Given the description of an element on the screen output the (x, y) to click on. 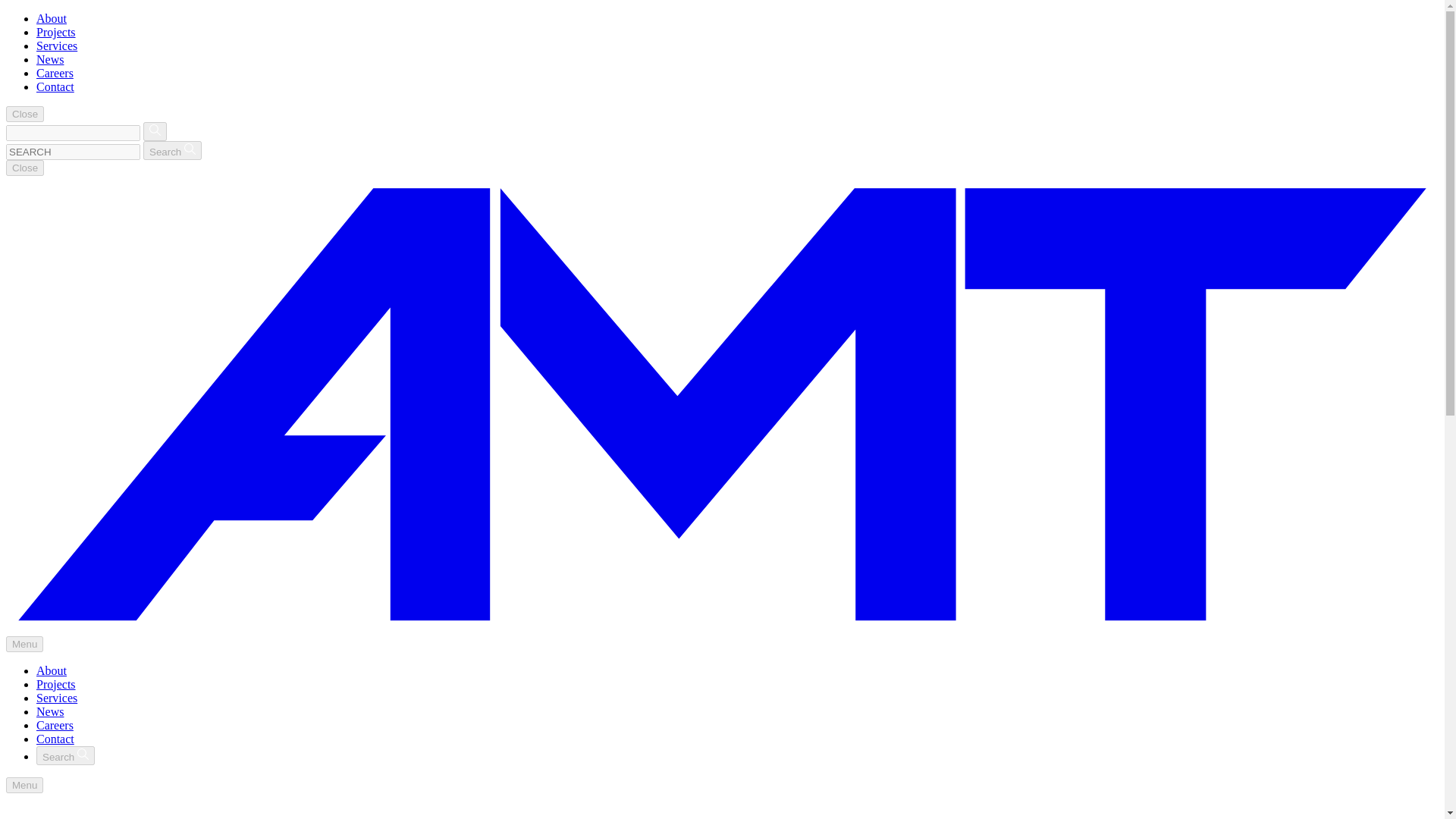
Close (24, 167)
Search (172, 149)
Contact (55, 738)
Careers (55, 725)
Search (65, 755)
Services (56, 697)
Menu (24, 643)
Careers (55, 72)
News (50, 59)
Close (24, 114)
About (51, 670)
Contact (55, 86)
Services (56, 45)
Projects (55, 31)
Projects (55, 684)
